Given the description of an element on the screen output the (x, y) to click on. 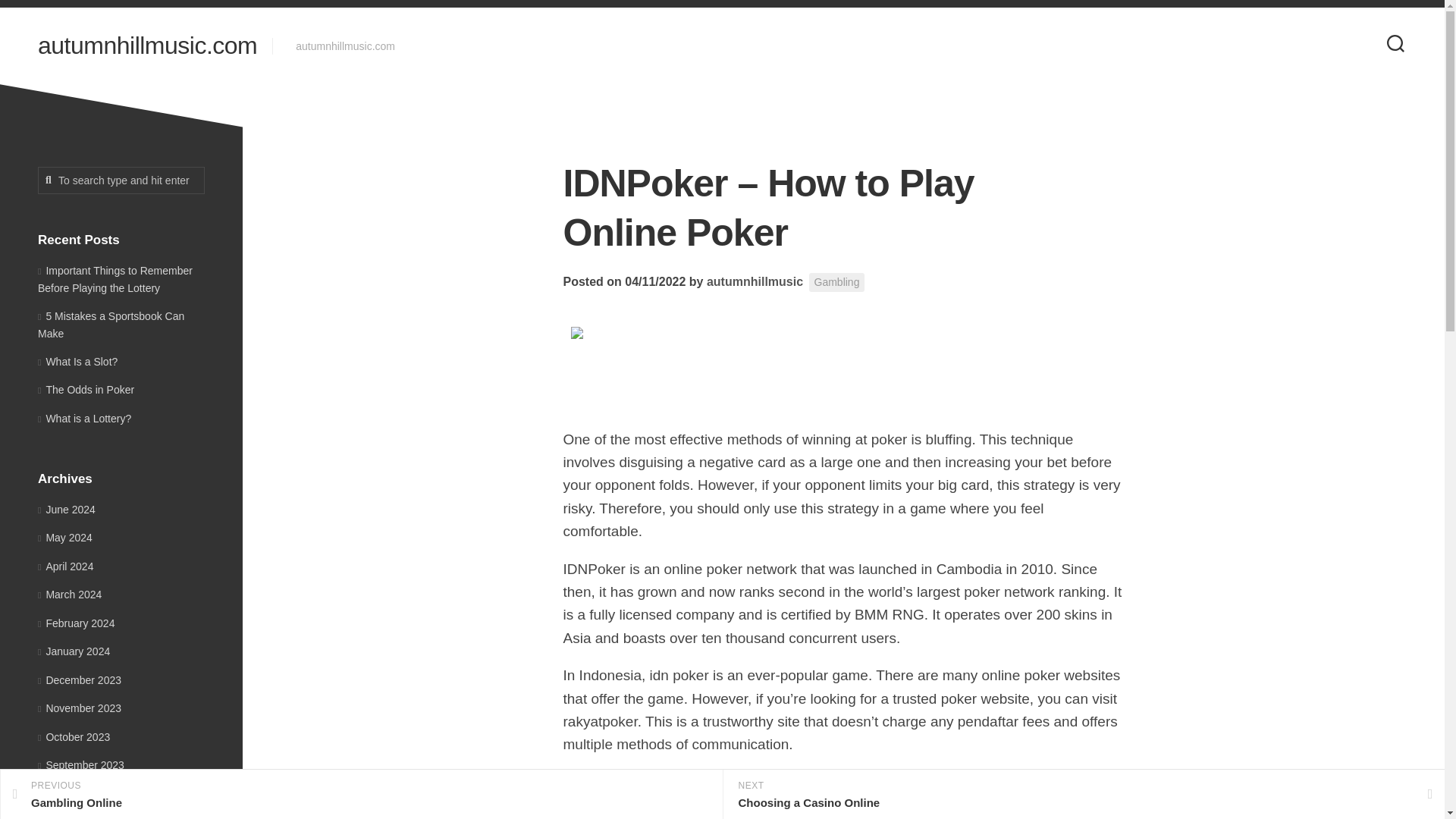
May 2024 (65, 537)
October 2023 (73, 736)
5 Mistakes a Sportsbook Can Make (110, 324)
To search type and hit enter (121, 180)
January 2024 (73, 651)
autumnhillmusic (754, 281)
autumnhillmusic.com (147, 44)
December 2023 (78, 679)
What Is a Slot? (77, 360)
March 2024 (69, 594)
July 2023 (63, 817)
June 2024 (66, 509)
Gambling (836, 281)
September 2023 (80, 765)
What is a Lottery? (84, 418)
